Given the description of an element on the screen output the (x, y) to click on. 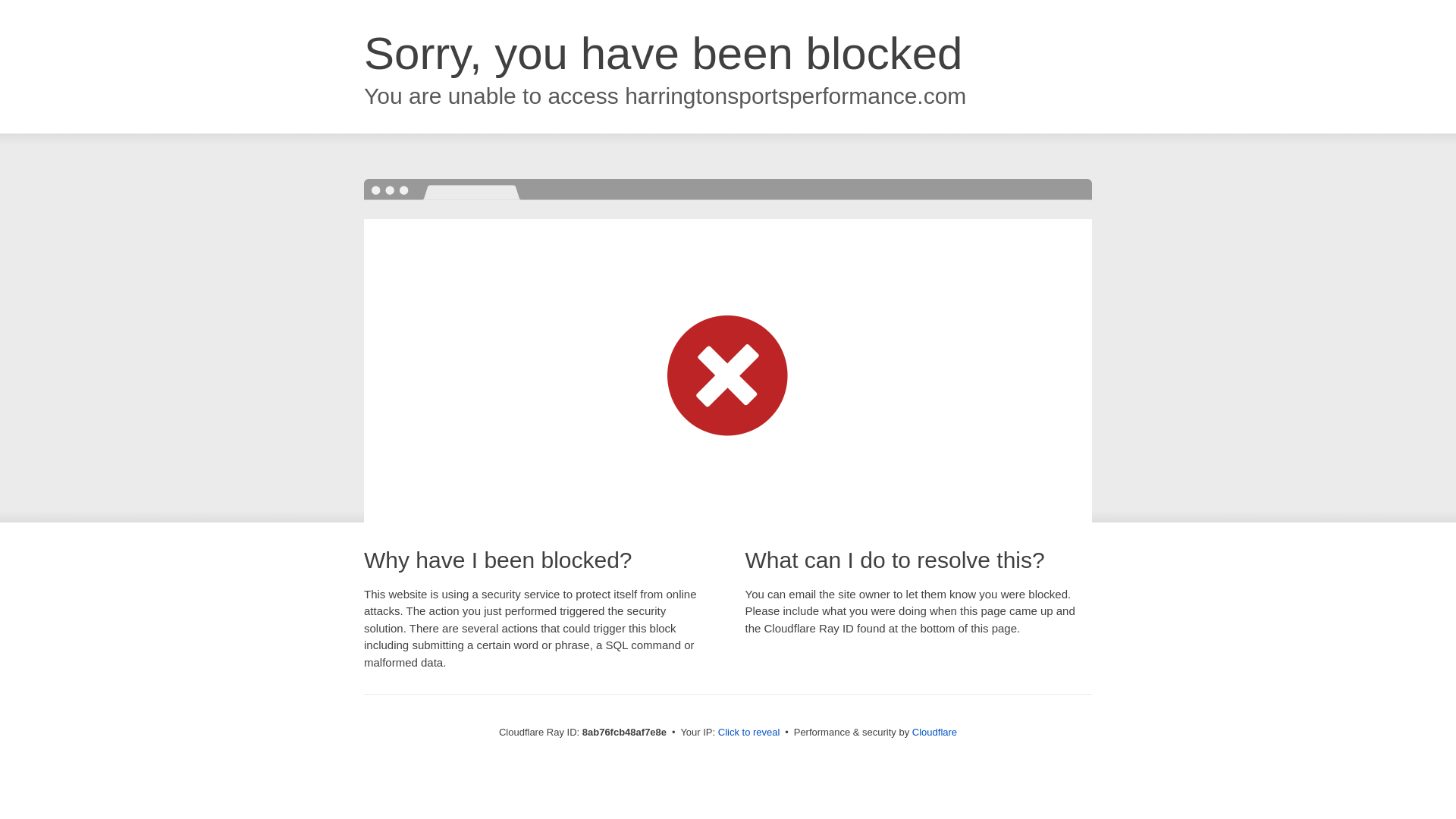
Click to reveal (748, 732)
Cloudflare (934, 731)
